Given the description of an element on the screen output the (x, y) to click on. 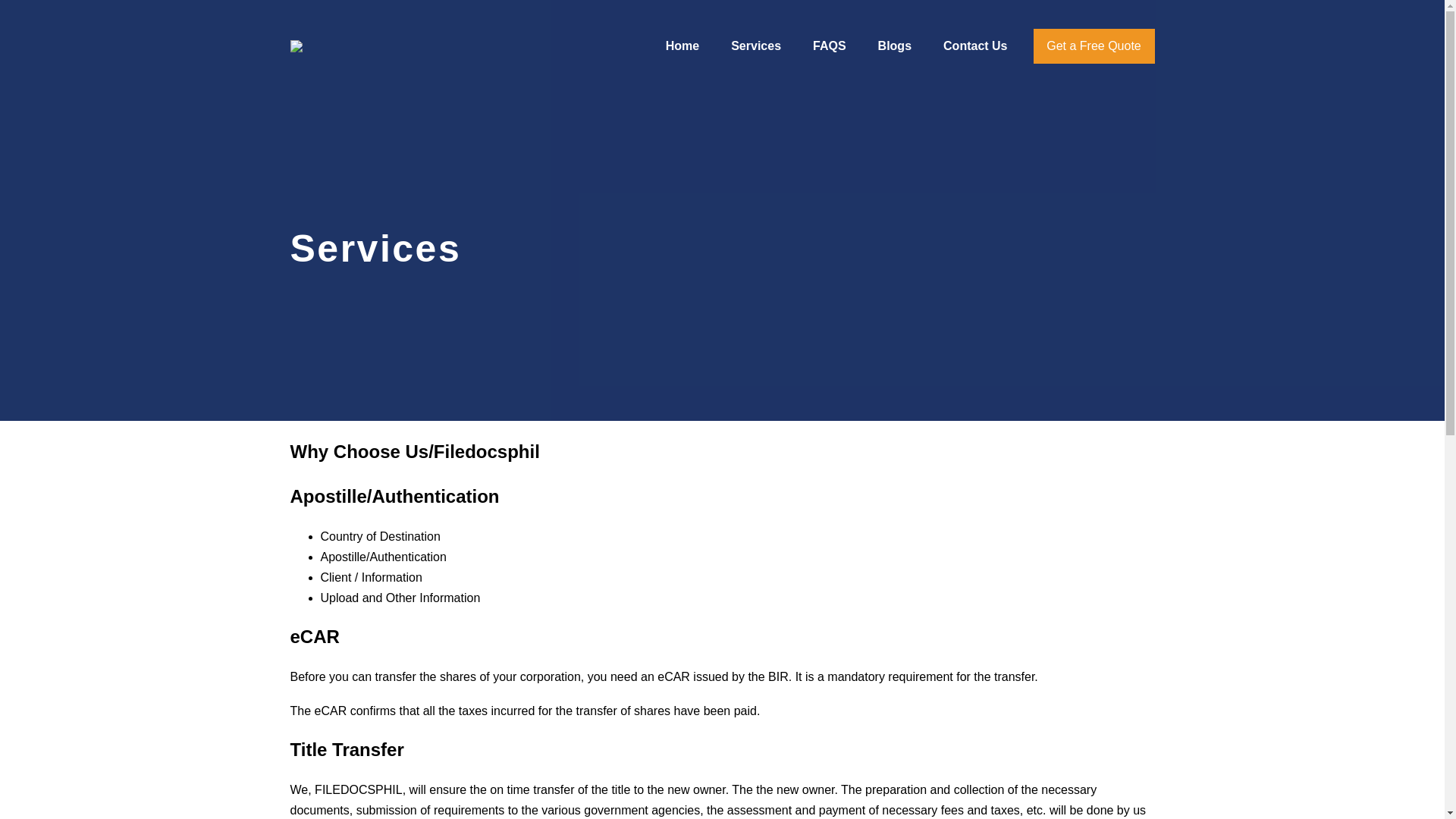
Home (681, 45)
Services (755, 45)
